Given the description of an element on the screen output the (x, y) to click on. 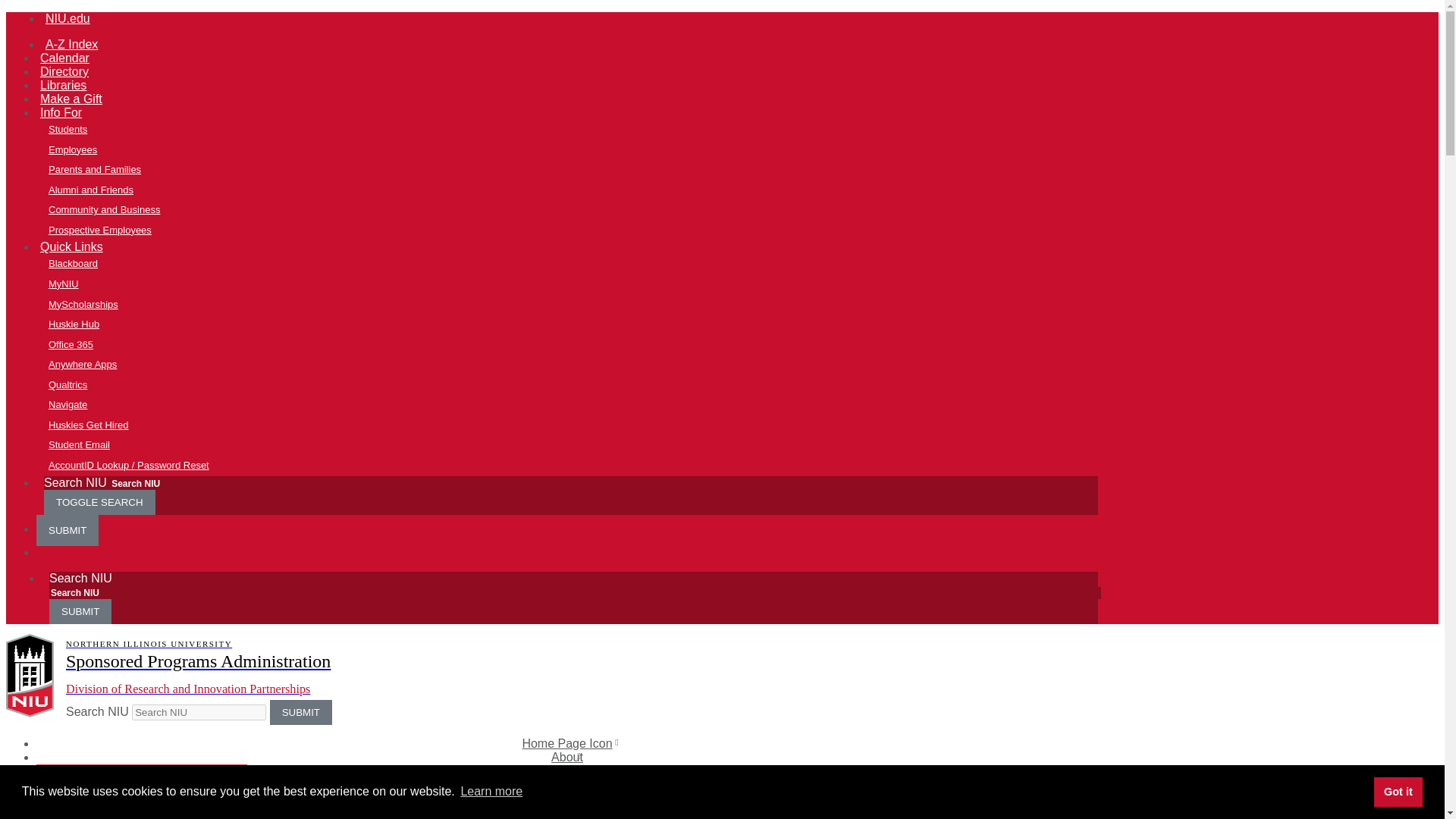
Student Email (579, 444)
MyNIU (579, 284)
SUBMIT (300, 712)
A-Z Index (71, 44)
Meet Our Staff (153, 801)
Navigate (579, 404)
Directory (64, 71)
Libraries (63, 85)
MyScholarships (579, 304)
Anywhere Apps (579, 364)
Home Page Icon (566, 744)
About Sponsored Programs Administration (153, 782)
Huskie Hub (579, 324)
SUBMIT (67, 530)
